Given the description of an element on the screen output the (x, y) to click on. 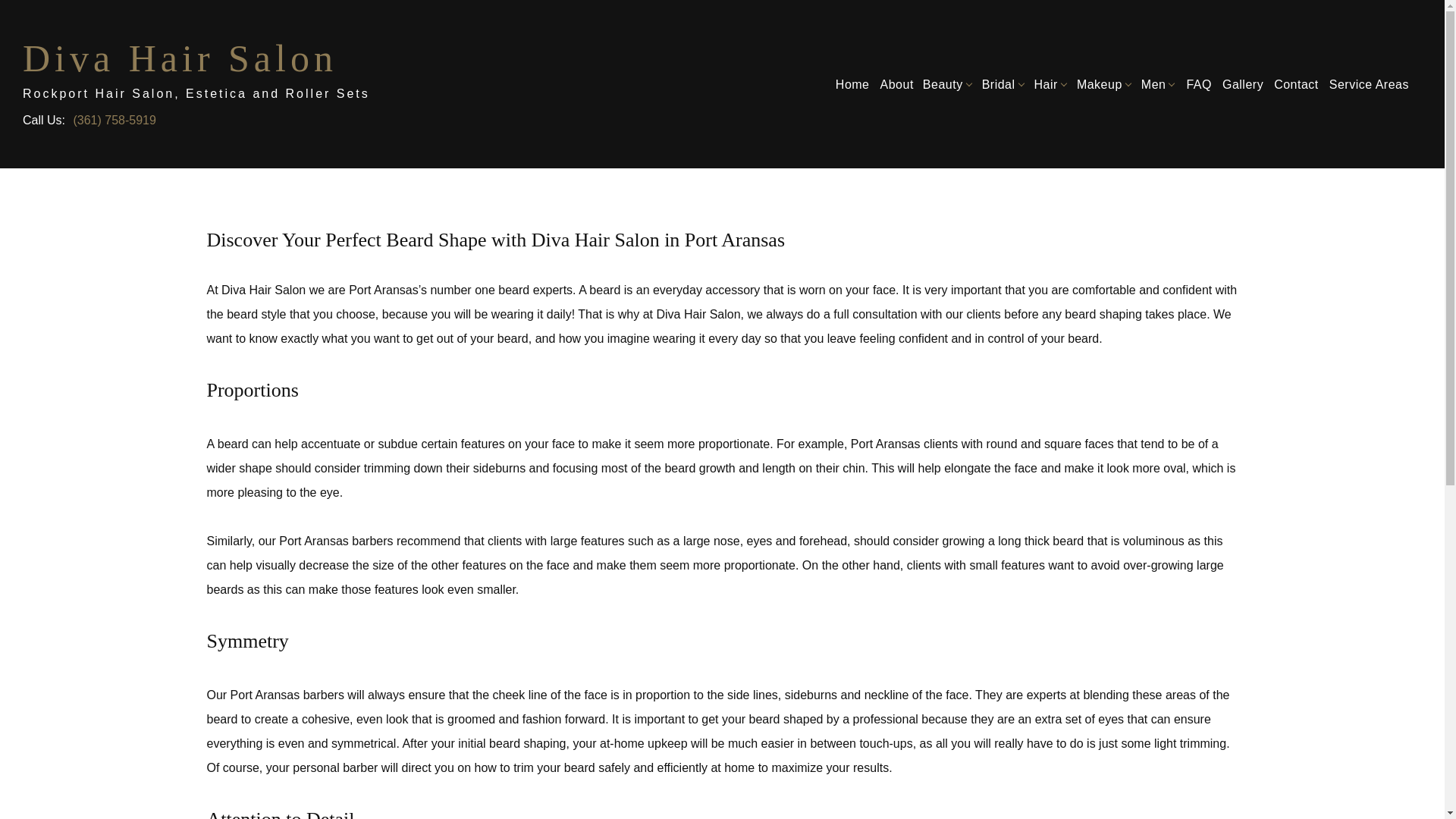
Bridal (1004, 83)
About (896, 83)
FAQ (1198, 83)
Service Areas (1368, 83)
Hair Extensions (1047, 146)
Eyebrow Tinting (1101, 123)
Makeup (1105, 83)
Hair Color (1047, 123)
Beauty (948, 83)
Men (1158, 83)
Gallery (1242, 83)
Mens Beard Shaping (1155, 123)
Hair Styling (1047, 191)
Contact (1295, 83)
Waxing (944, 146)
